Given the description of an element on the screen output the (x, y) to click on. 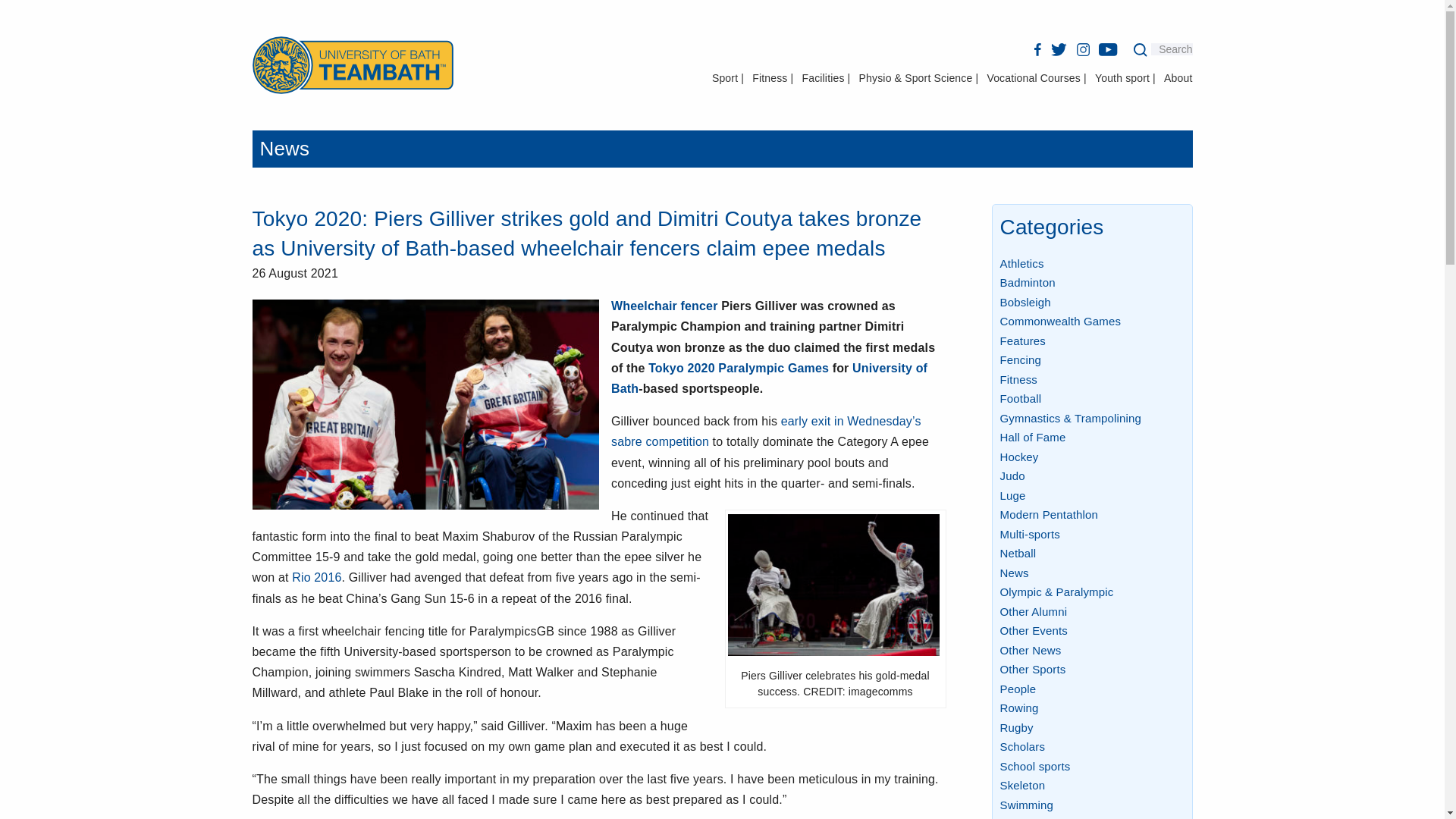
Football (1019, 398)
Features (1021, 340)
Rio 2016 (316, 576)
Bobsleigh (1023, 301)
Fencing (1019, 359)
News (283, 148)
University of Bath (769, 377)
Tokyo 2020 Paralympic Games (737, 367)
Commonwealth Games (1059, 320)
About (1177, 77)
Badminton (1026, 282)
Athletics (1020, 263)
Wheelchair fencer (664, 305)
Fitness (1017, 379)
